Given the description of an element on the screen output the (x, y) to click on. 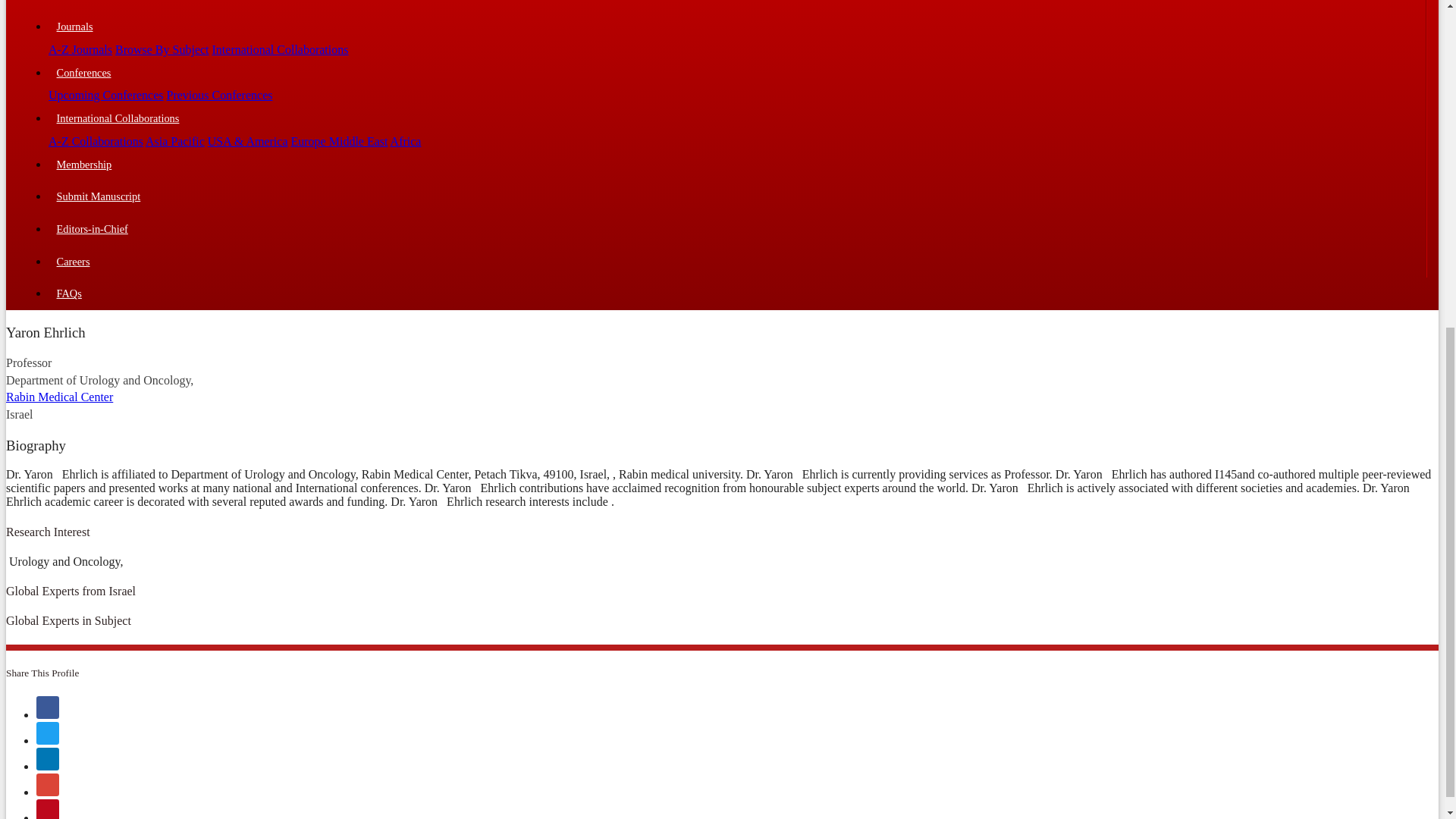
Asia Pacific (175, 141)
Browse By Subject (162, 49)
Journals (736, 26)
A-Z Journals (80, 49)
Upcoming Conferences (105, 94)
Europe Middle East (339, 141)
Upcoming Conferences (105, 94)
International Collaborations (280, 49)
Submit Manuscript (736, 196)
FAQs (737, 293)
Previous Conferences (220, 94)
Conferences (736, 72)
A-Z Journals (80, 49)
Conferences (736, 72)
Rabin Medical Center (59, 396)
